Given the description of an element on the screen output the (x, y) to click on. 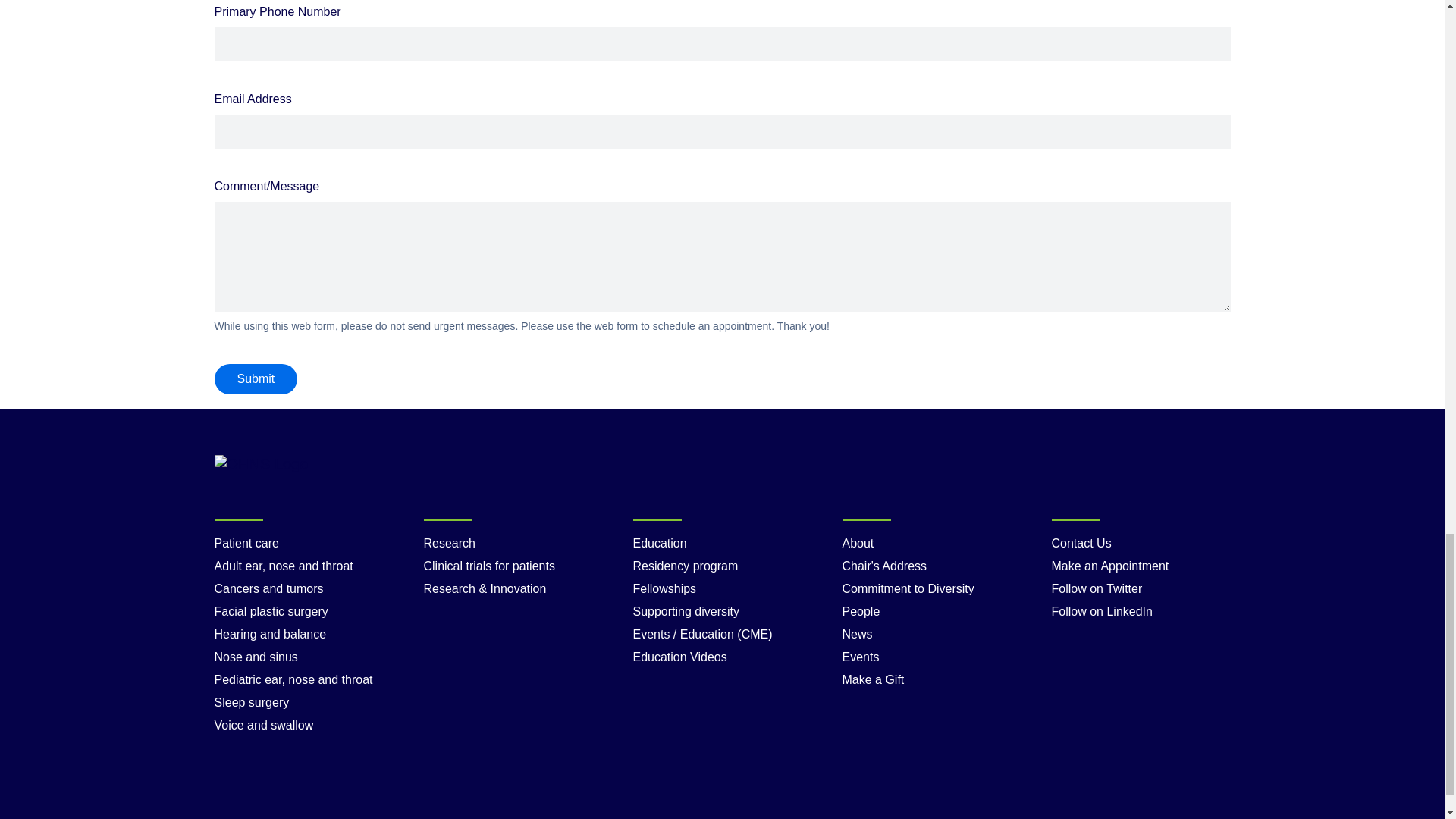
Submit (255, 378)
